Given the description of an element on the screen output the (x, y) to click on. 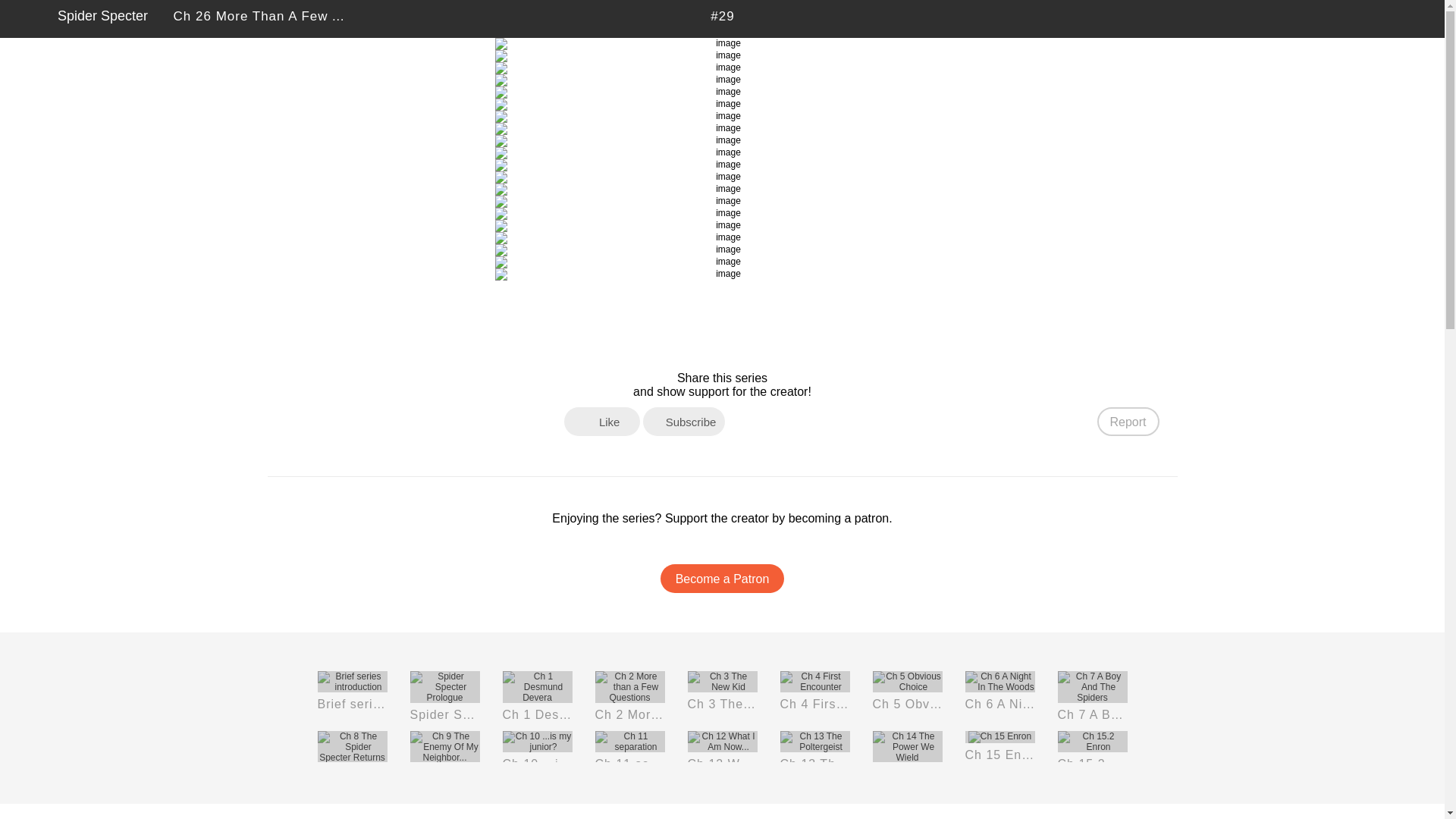
Next Episode (760, 18)
Subscribe (1342, 18)
Spider Specter (103, 16)
Reddit (834, 420)
Subscribe (684, 421)
Twitter (1395, 18)
Facebook (741, 420)
WEBTOON (28, 18)
Facebook (1368, 18)
URL COPY (1422, 18)
